Given the description of an element on the screen output the (x, y) to click on. 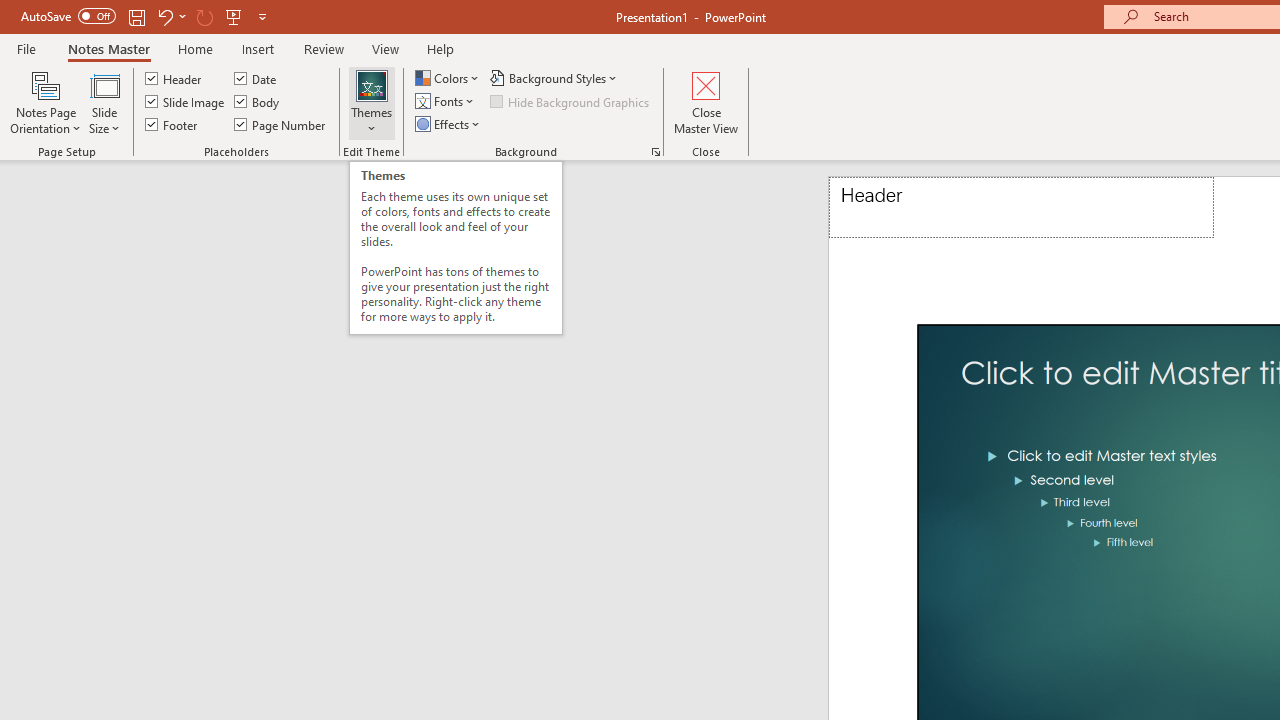
Close Master View (706, 102)
Page Number (280, 124)
Notes Page Orientation (45, 102)
Effects (449, 124)
Header (1021, 207)
Header (174, 78)
Background Styles (555, 78)
